Given the description of an element on the screen output the (x, y) to click on. 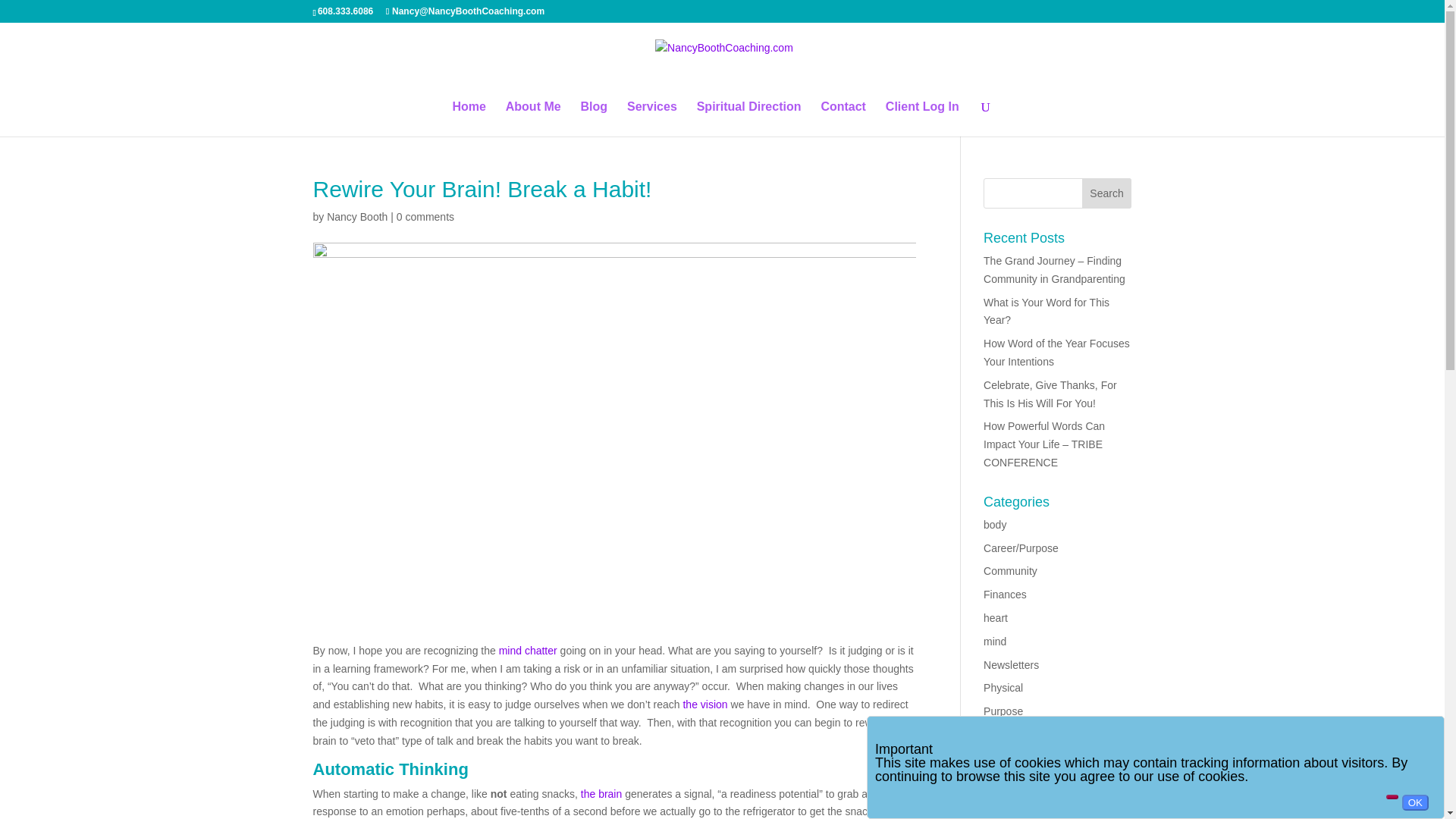
mind chatter (528, 650)
Search (1106, 193)
Spiritual Direction (749, 118)
What is Your Word for This Year? (1046, 311)
Nancy Booth (356, 216)
Physical (1003, 687)
Search (1106, 193)
body (995, 524)
Relationships (1015, 734)
Client Log In (922, 118)
